Given the description of an element on the screen output the (x, y) to click on. 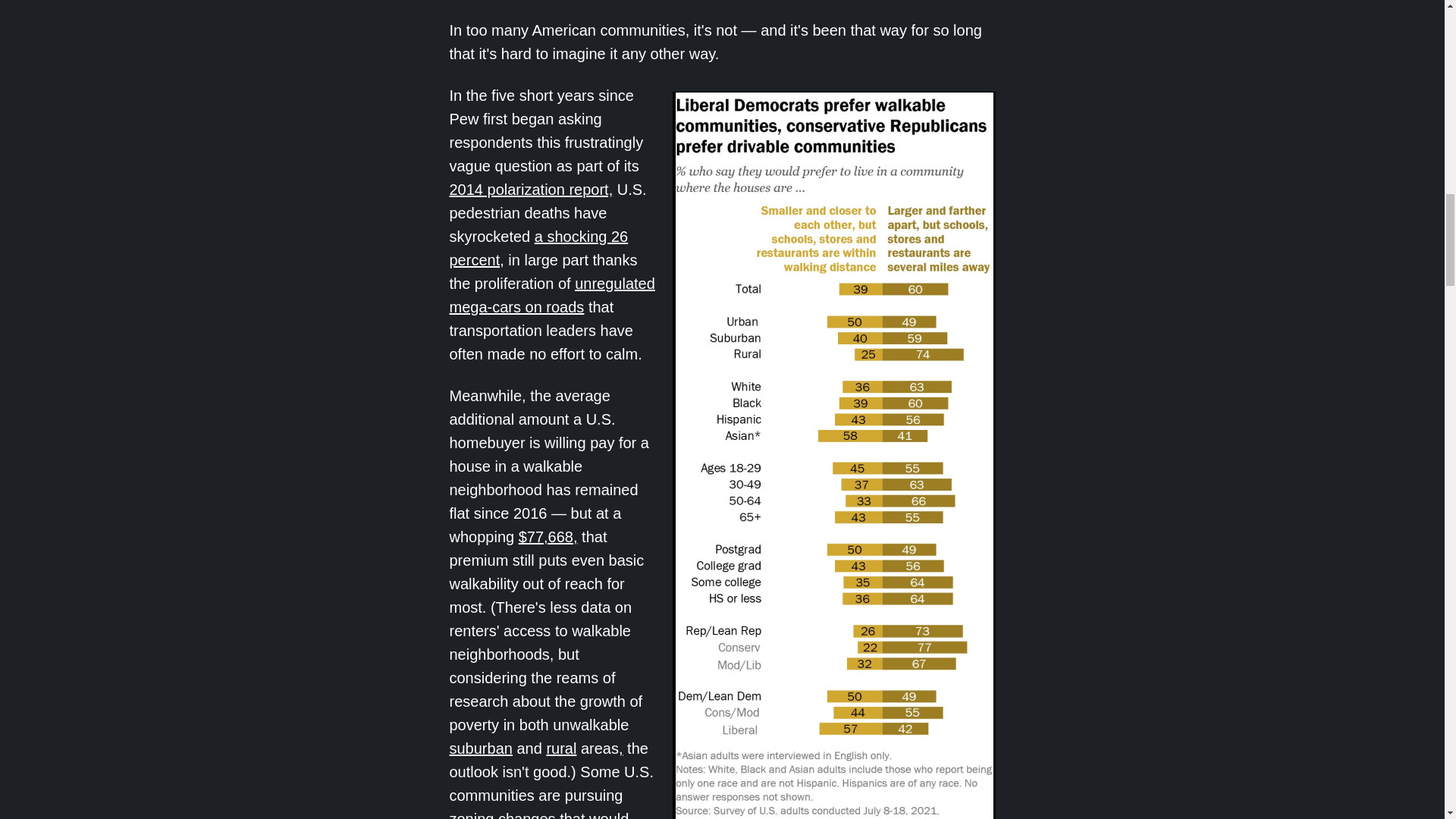
2014 polarization report, (530, 189)
